Given the description of an element on the screen output the (x, y) to click on. 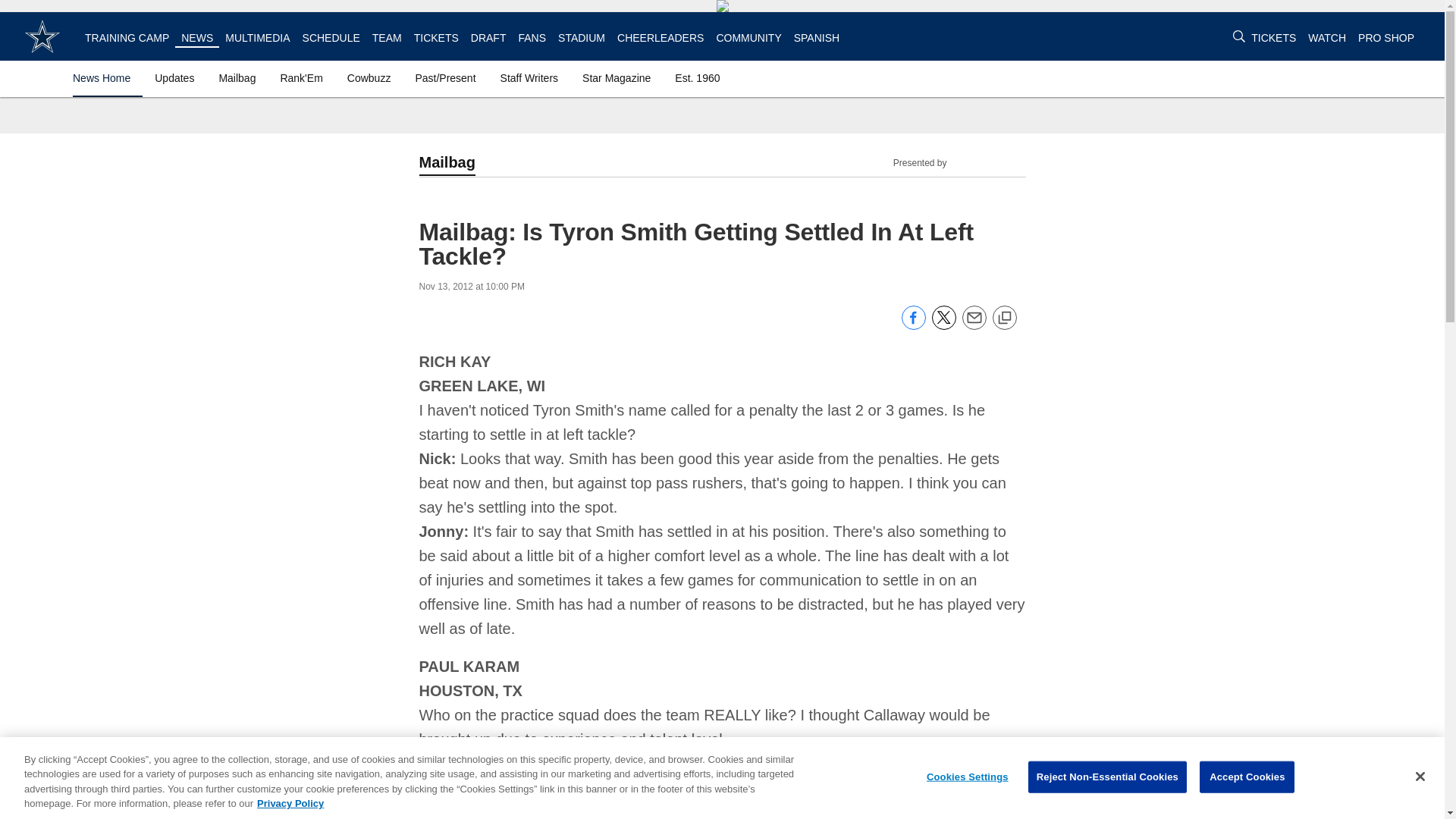
NEWS (196, 37)
SCHEDULE (330, 37)
Staff Writers (529, 77)
Rank'Em (301, 77)
STADIUM (581, 37)
FANS (532, 37)
WATCH (1326, 37)
SPANISH (816, 37)
DRAFT (488, 37)
PRO SHOP (1385, 37)
